Given the description of an element on the screen output the (x, y) to click on. 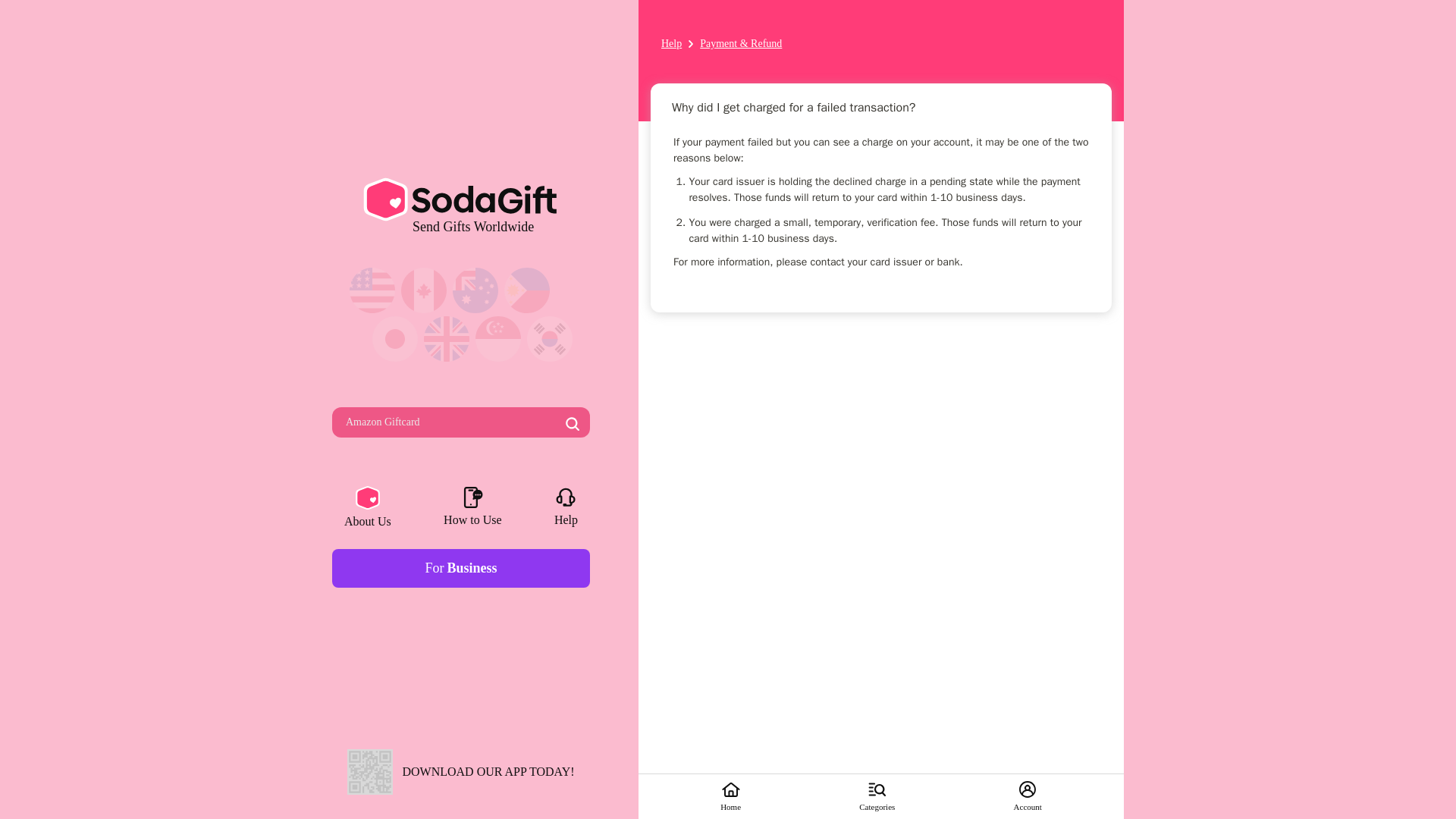
About Us (460, 568)
How to Use (367, 508)
Help (472, 508)
Send Gifts Worldwide (671, 44)
